Given the description of an element on the screen output the (x, y) to click on. 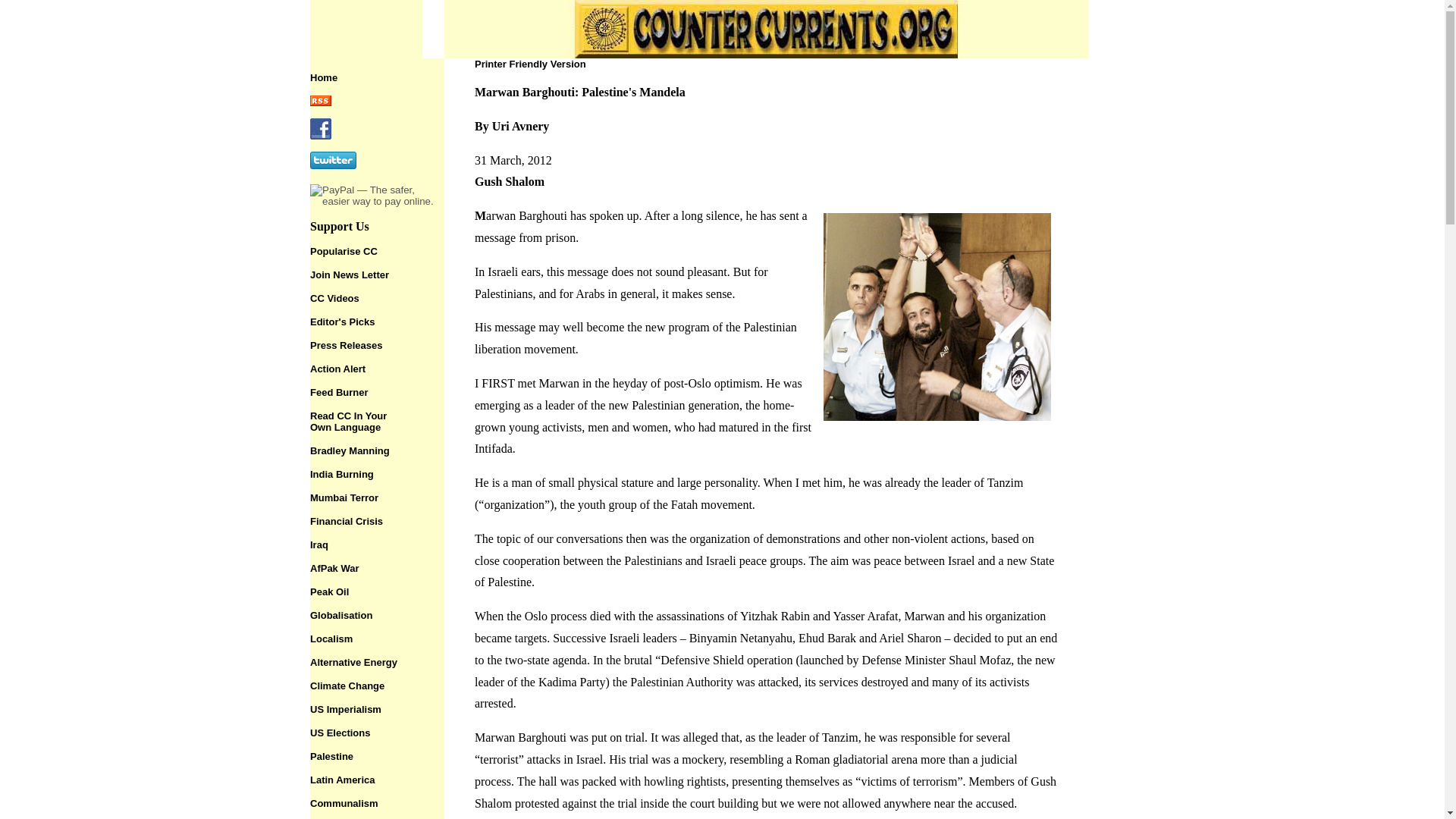
Globalisation (341, 614)
AfPak War (334, 568)
US Elections (339, 732)
Palestine (331, 755)
India Burning (342, 473)
Climate Change (347, 685)
Support Us (339, 226)
Feed Burner (339, 392)
Editor's Picks (342, 321)
Financial Crisis (346, 521)
CC Videos (348, 421)
Bradley Manning (334, 297)
Popularise CC (350, 450)
Iraq (343, 251)
